Given the description of an element on the screen output the (x, y) to click on. 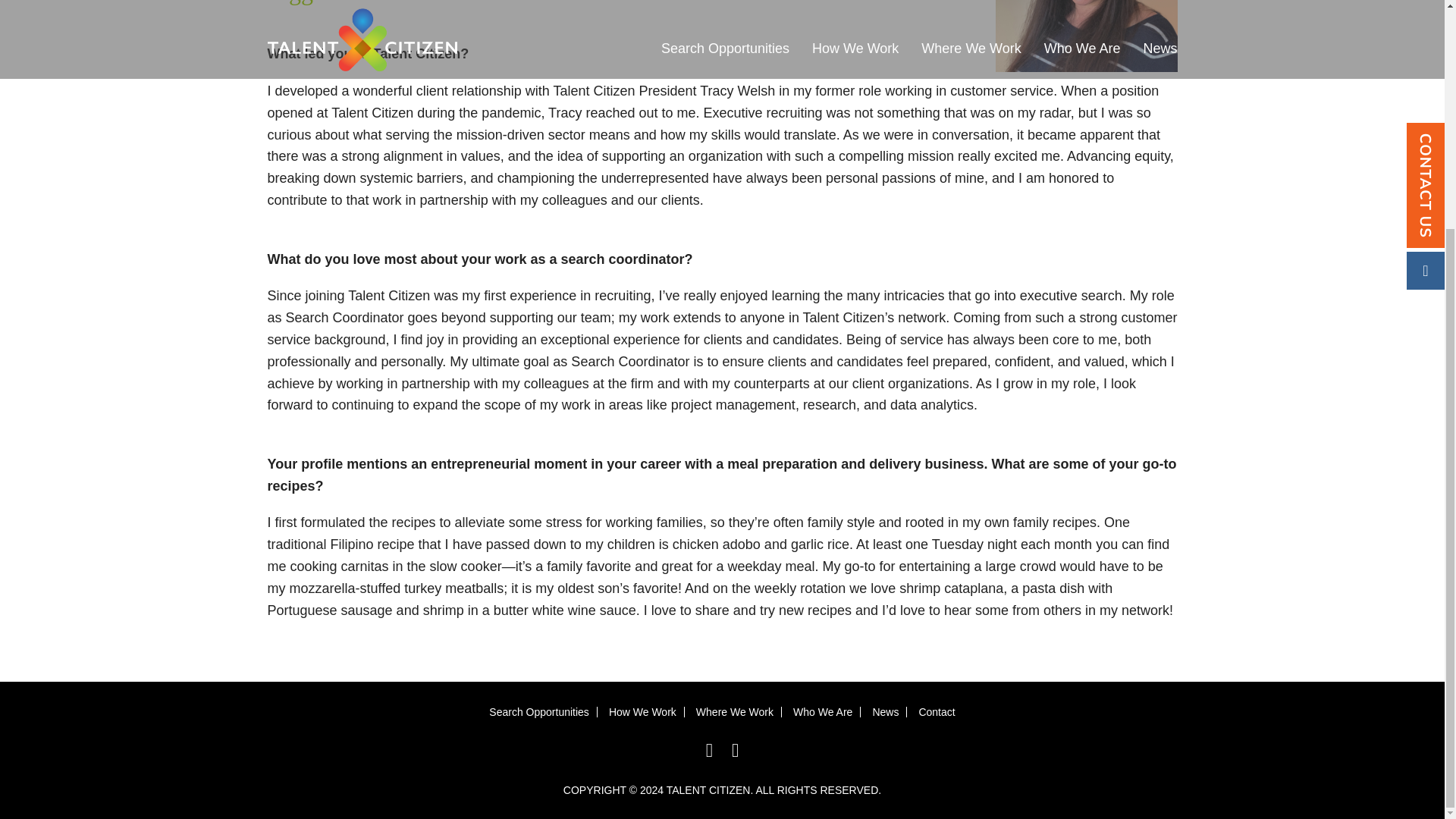
Where We Work (734, 711)
Search Opportunities (539, 711)
How We Work (642, 711)
Who We Are (822, 711)
News (885, 711)
Contact (936, 711)
